Given the description of an element on the screen output the (x, y) to click on. 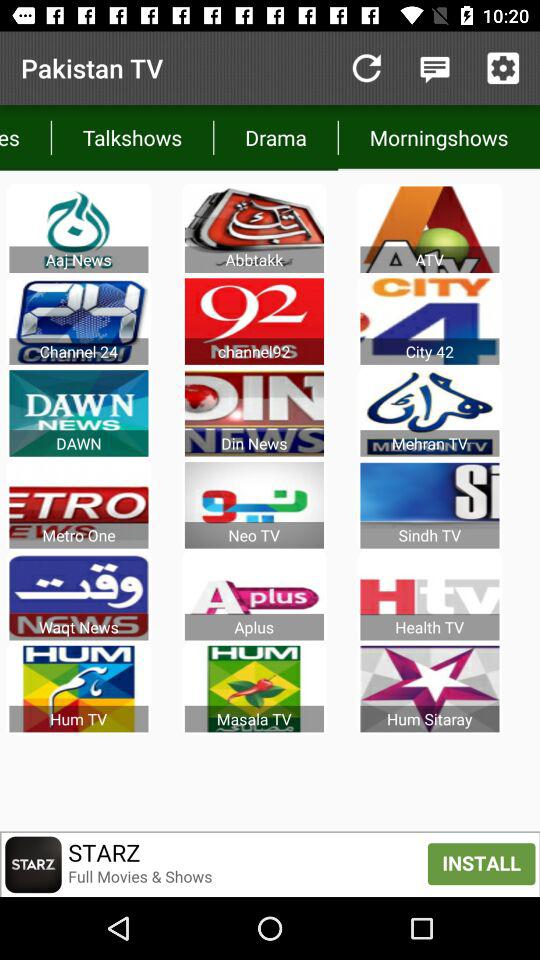
settings button (503, 67)
